Given the description of an element on the screen output the (x, y) to click on. 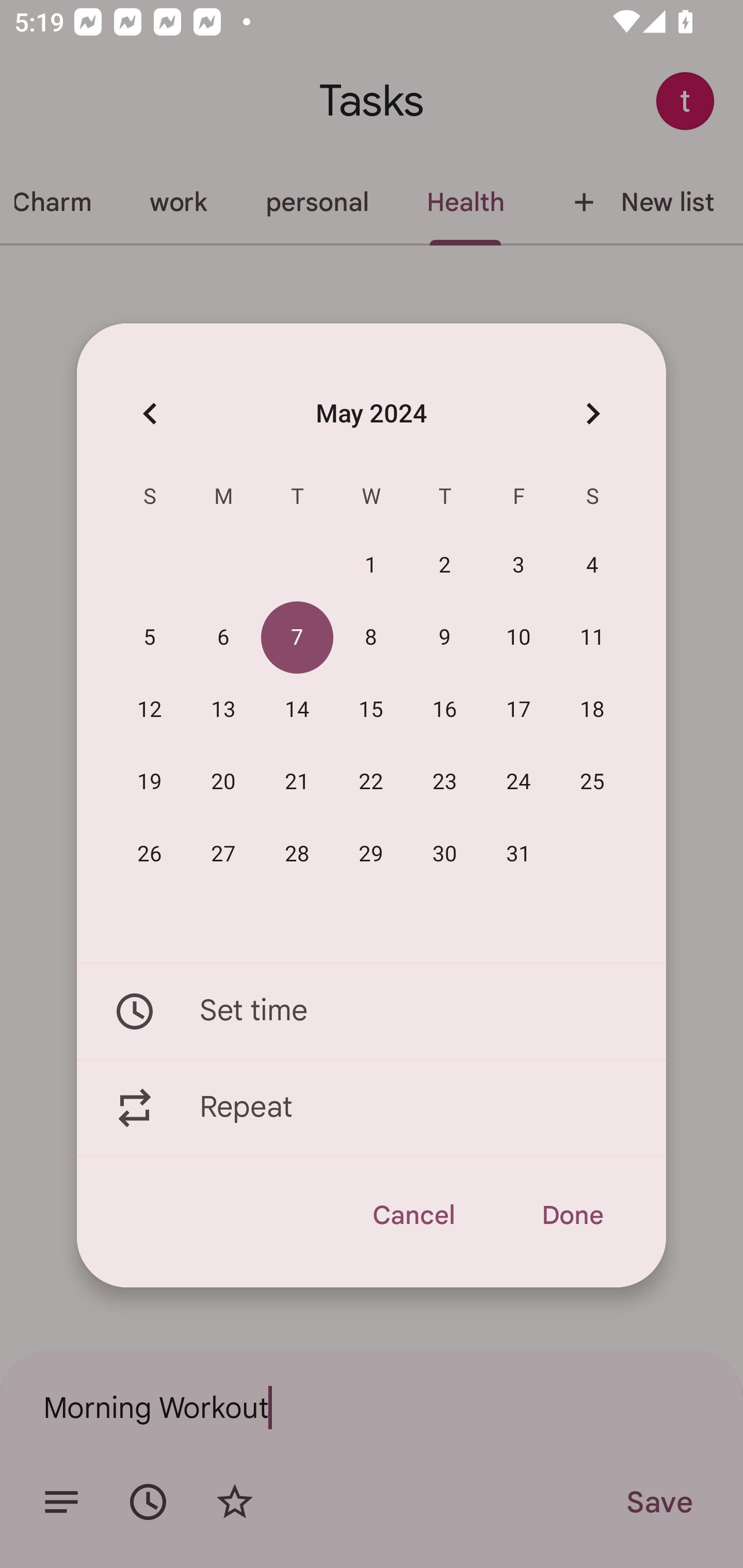
Previous month (149, 413)
Next month (592, 413)
1 01 May 2024 (370, 565)
2 02 May 2024 (444, 565)
3 03 May 2024 (518, 565)
4 04 May 2024 (592, 565)
5 05 May 2024 (149, 638)
6 06 May 2024 (223, 638)
7 07 May 2024 (297, 638)
8 08 May 2024 (370, 638)
9 09 May 2024 (444, 638)
10 10 May 2024 (518, 638)
11 11 May 2024 (592, 638)
12 12 May 2024 (149, 710)
13 13 May 2024 (223, 710)
14 14 May 2024 (297, 710)
15 15 May 2024 (370, 710)
16 16 May 2024 (444, 710)
17 17 May 2024 (518, 710)
18 18 May 2024 (592, 710)
19 19 May 2024 (149, 782)
20 20 May 2024 (223, 782)
21 21 May 2024 (297, 782)
22 22 May 2024 (370, 782)
23 23 May 2024 (444, 782)
24 24 May 2024 (518, 782)
25 25 May 2024 (592, 782)
26 26 May 2024 (149, 854)
27 27 May 2024 (223, 854)
28 28 May 2024 (297, 854)
29 29 May 2024 (370, 854)
30 30 May 2024 (444, 854)
31 31 May 2024 (518, 854)
Set time (371, 1011)
Repeat (371, 1108)
Cancel (412, 1215)
Done (571, 1215)
